Given the description of an element on the screen output the (x, y) to click on. 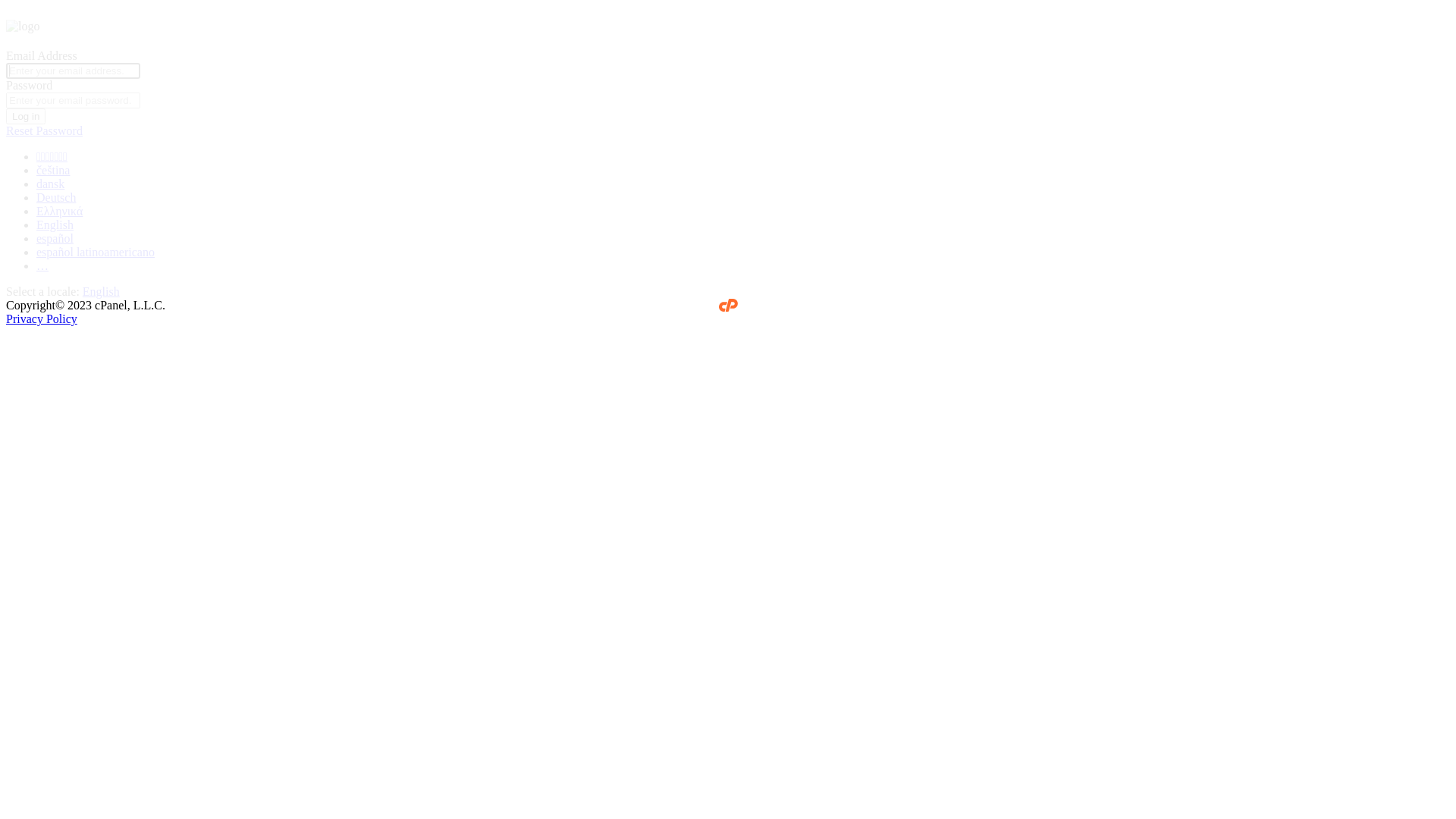
Enter Here Element type: text (896, 224)
Enter Here Element type: text (558, 224)
